Given the description of an element on the screen output the (x, y) to click on. 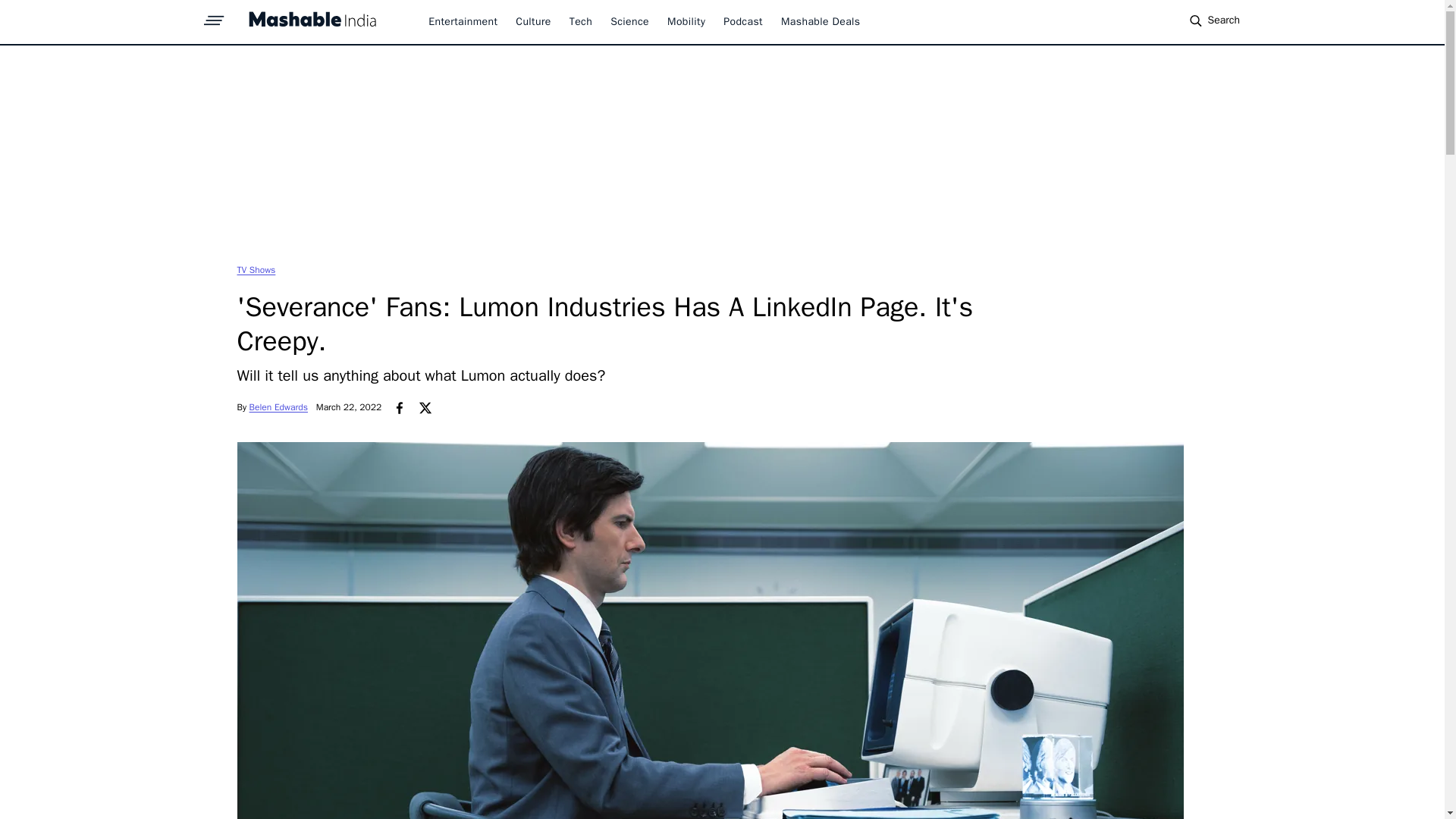
TV Shows (255, 269)
Mashable Deals (820, 21)
sprite-hamburger (213, 16)
Podcast (742, 21)
TV Shows (255, 269)
Belen Edwards (277, 407)
Entertainment (462, 21)
Culture (532, 21)
Tech (580, 21)
Mobility (685, 21)
